Given the description of an element on the screen output the (x, y) to click on. 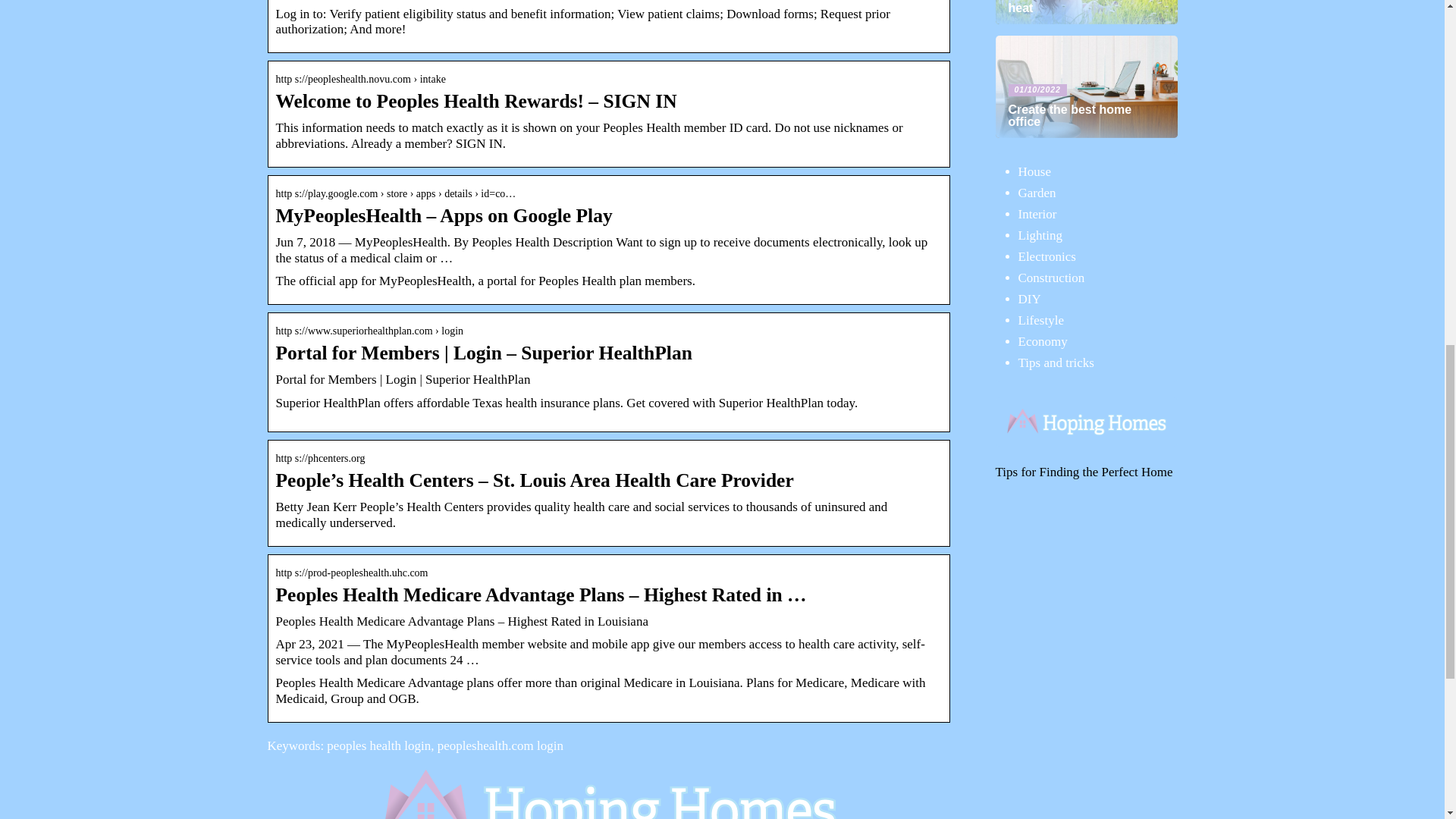
Lifestyle (1039, 319)
DIY (1029, 298)
Electronics (1046, 256)
Tips for Finding the Perfect Home (1083, 472)
Garden (1036, 192)
Tips and tricks (1055, 362)
Interior (1037, 214)
Economy (1042, 341)
Lighting (1039, 235)
Construction (1050, 278)
House (1033, 171)
